Given the description of an element on the screen output the (x, y) to click on. 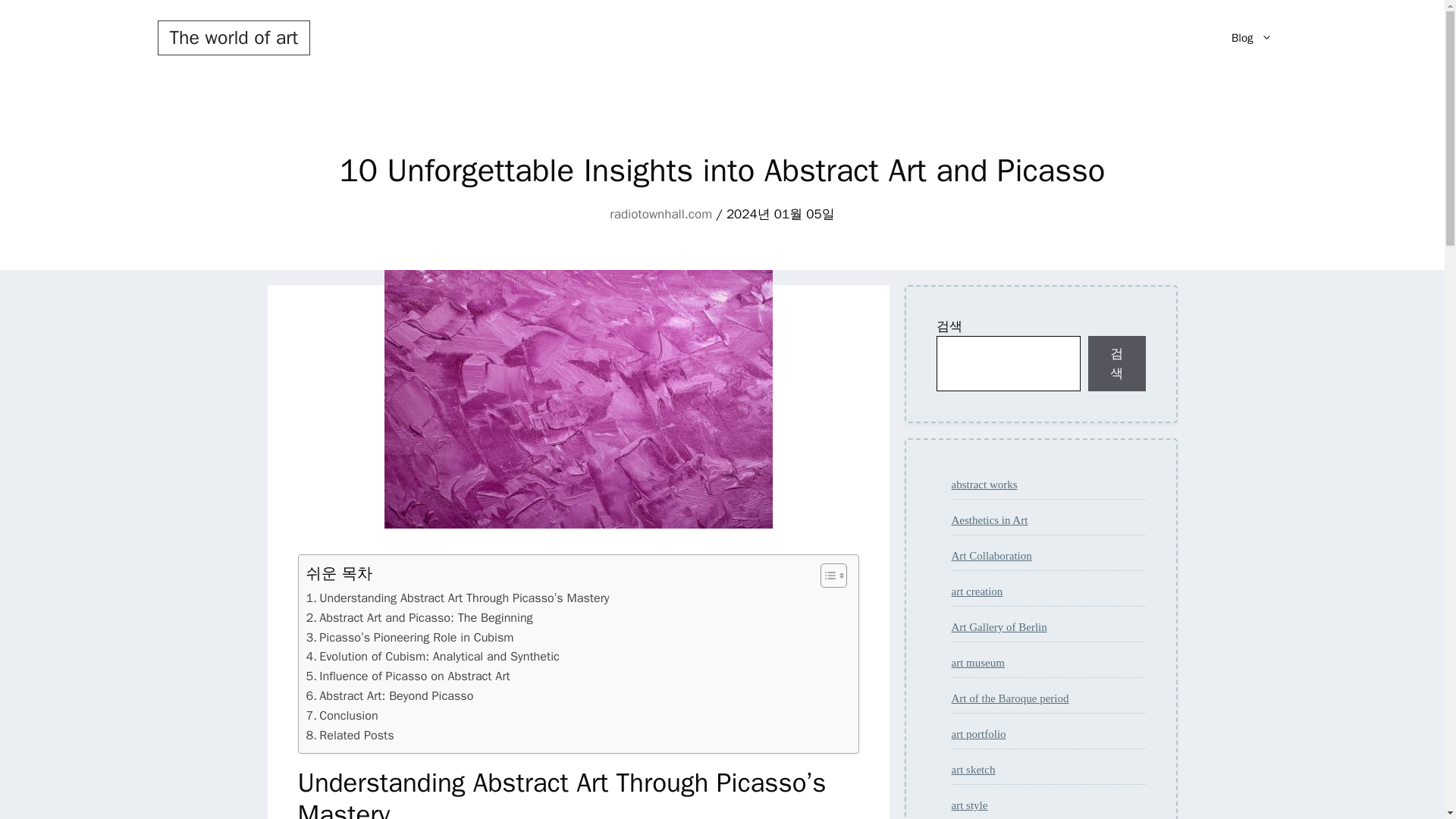
Evolution of Cubism: Analytical and Synthetic (432, 656)
art portfolio (978, 734)
Abstract Art: Beyond Picasso (389, 695)
radiotownhall.com (660, 213)
Abstract Art and Picasso: The Beginning (418, 618)
Related Posts (349, 735)
art sketch (972, 769)
Abstract Art: Beyond Picasso (389, 695)
art museum (977, 662)
abstract works (983, 484)
Blog (1251, 37)
Art Collaboration (990, 555)
art creation (976, 591)
Influence of Picasso on Abstract Art (408, 676)
Evolution of Cubism: Analytical and Synthetic (432, 656)
